Given the description of an element on the screen output the (x, y) to click on. 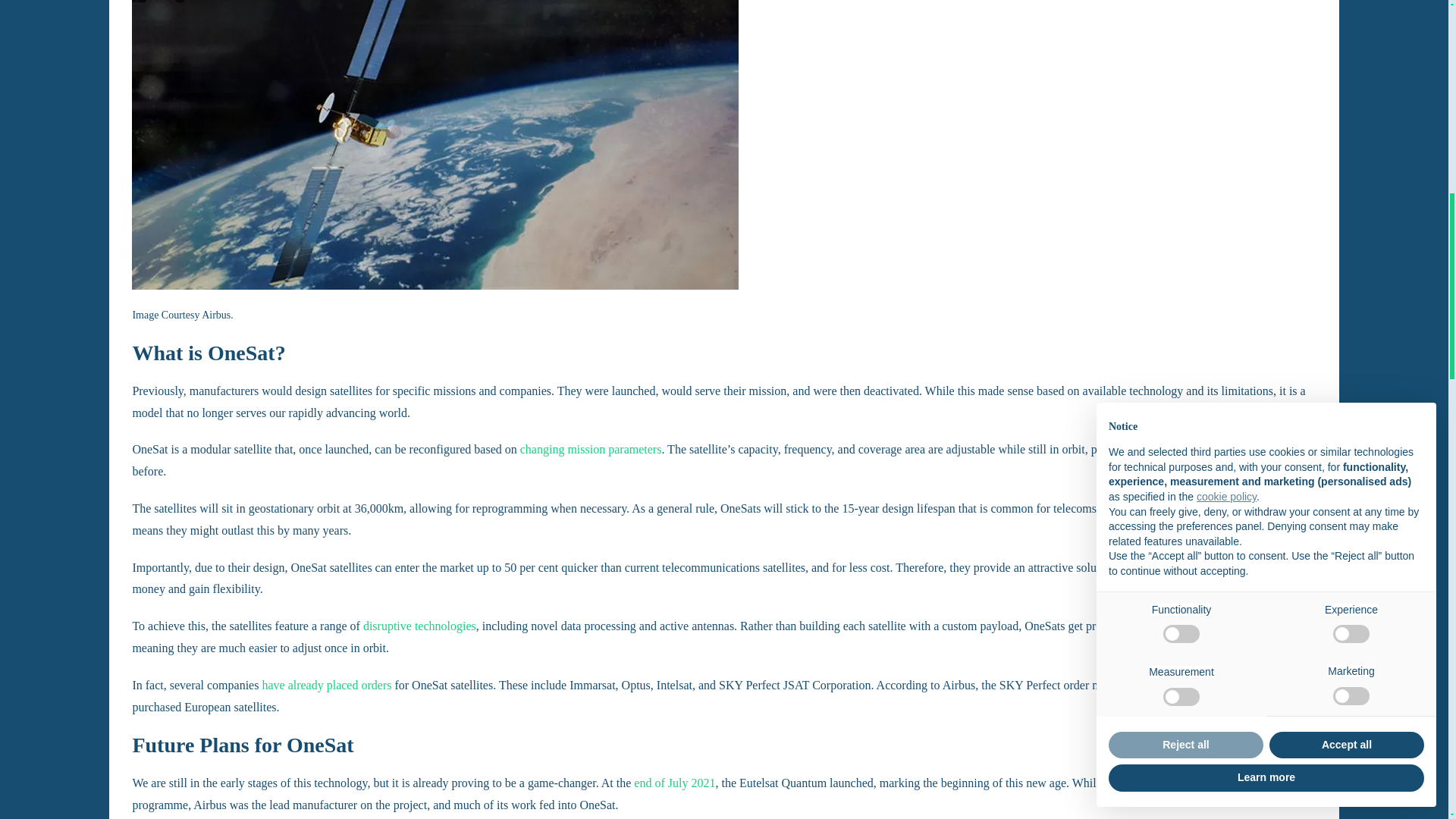
have already placed orders (326, 684)
changing mission parameters (590, 449)
end of July 2021 (673, 782)
disruptive technologies (419, 625)
